Given the description of an element on the screen output the (x, y) to click on. 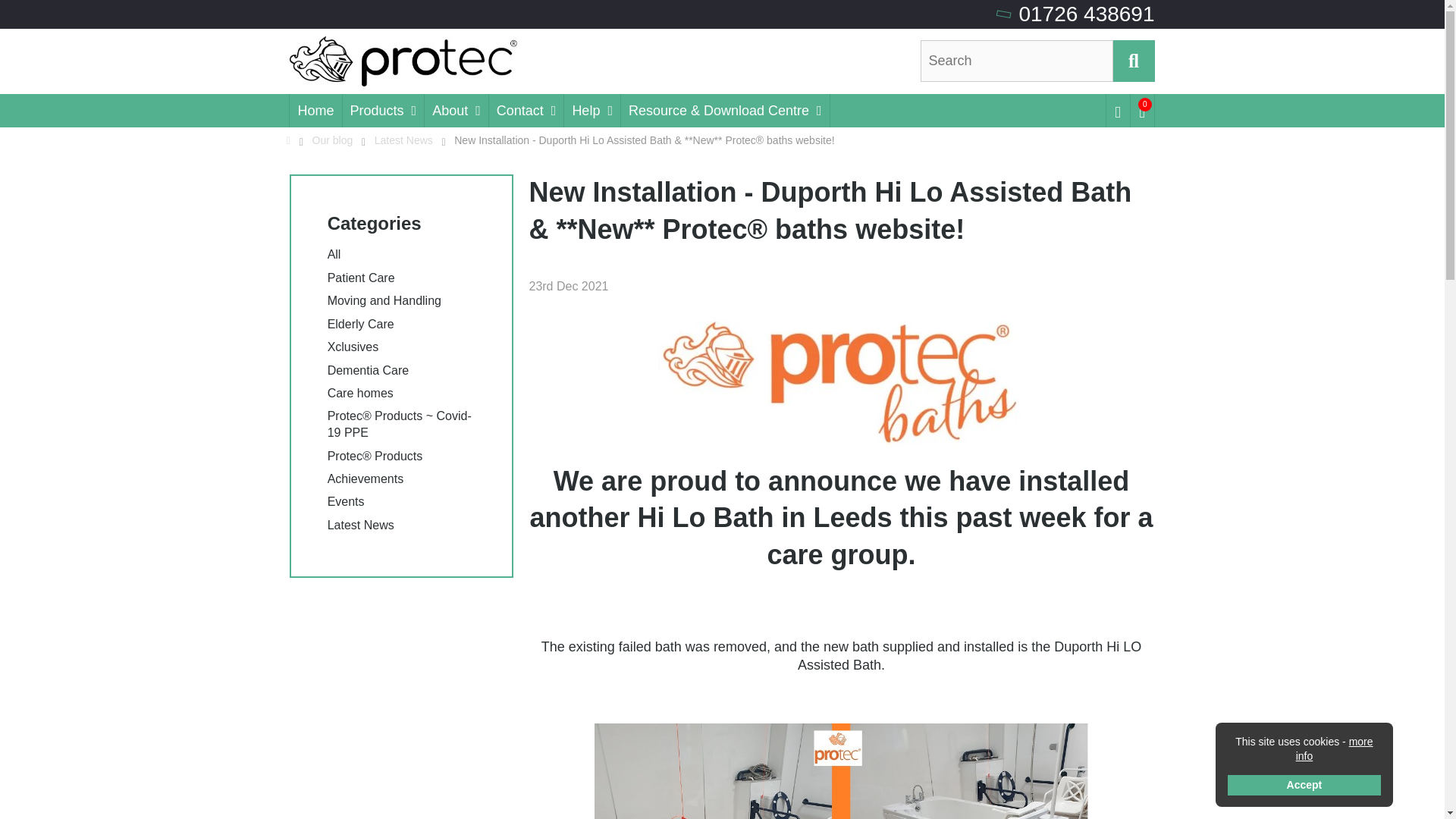
Products (382, 110)
Accept (1303, 784)
more info (1334, 748)
Home (315, 110)
